Given the description of an element on the screen output the (x, y) to click on. 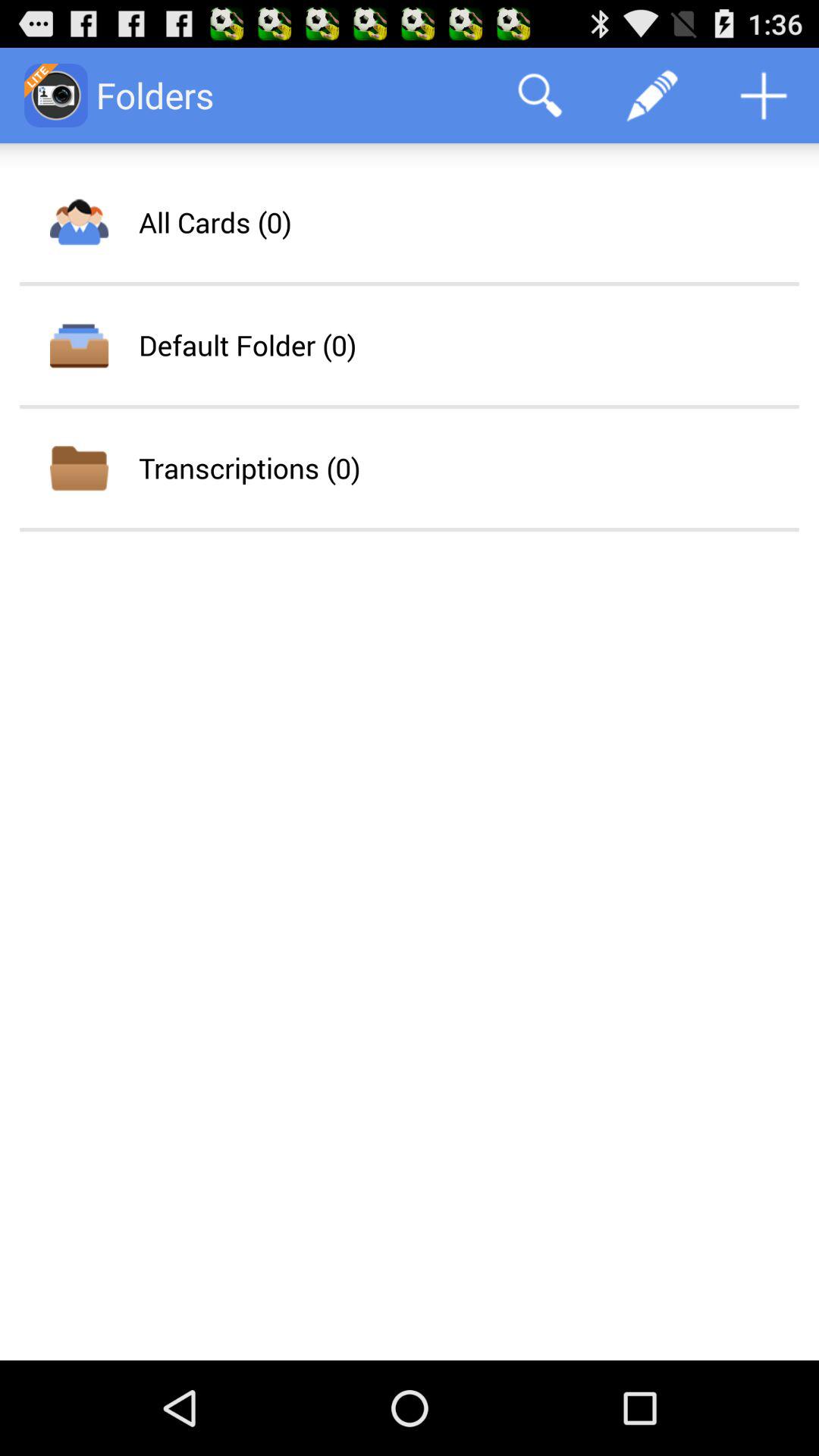
open icon at the top (540, 95)
